Given the description of an element on the screen output the (x, y) to click on. 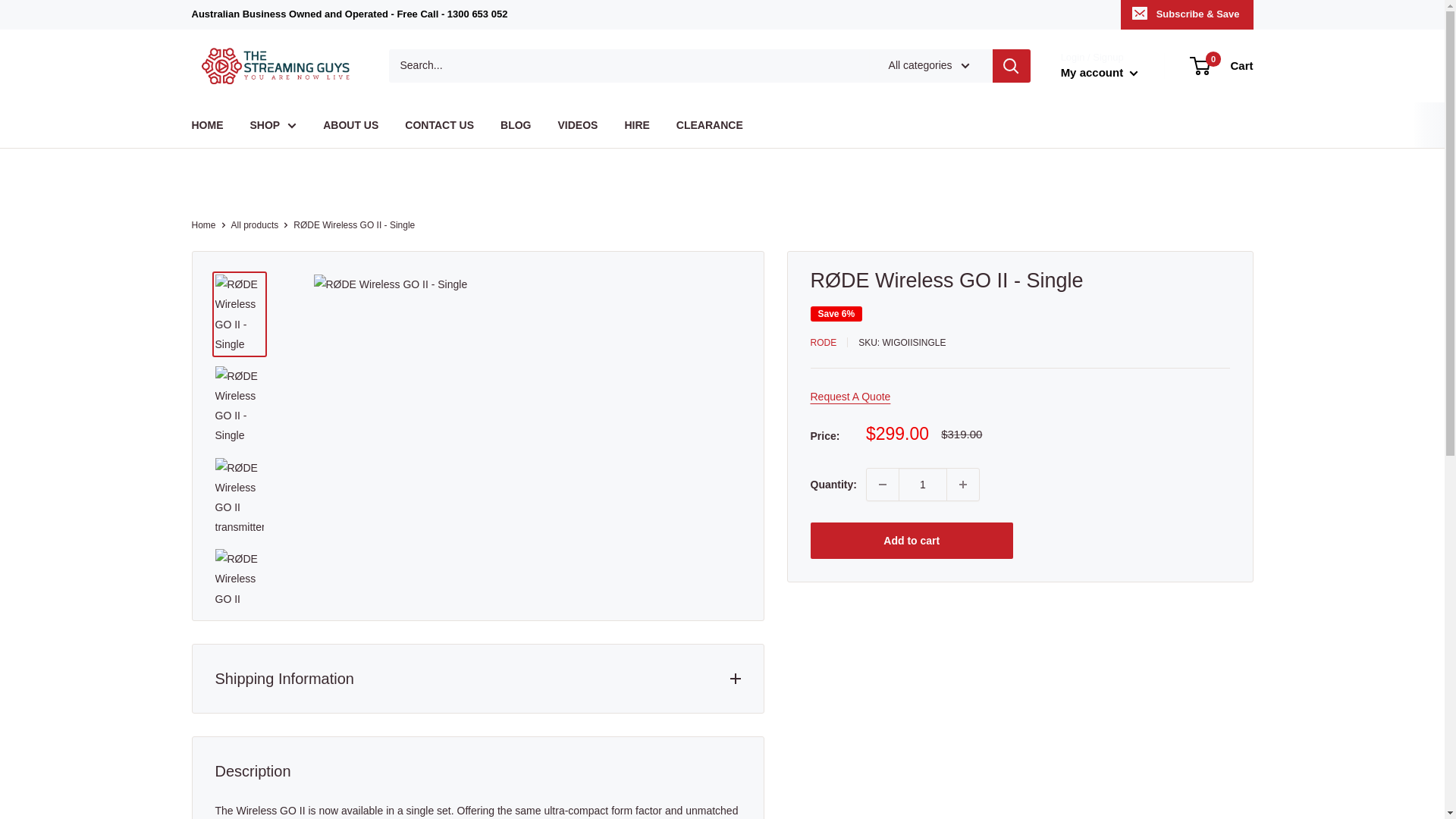
1 (922, 484)
Decrease quantity by 1 (882, 484)
Increase quantity by 1 (962, 484)
